Given the description of an element on the screen output the (x, y) to click on. 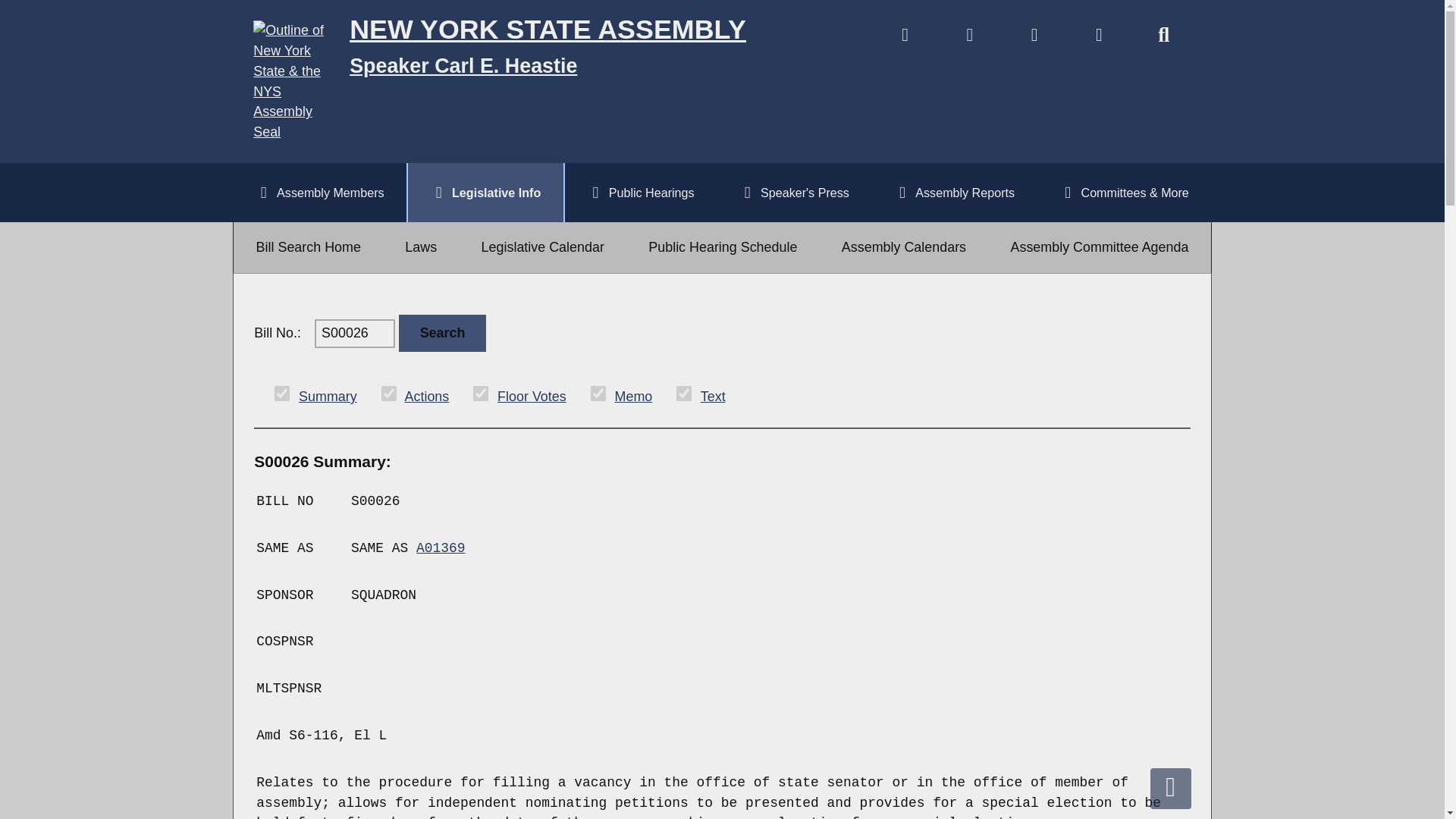
Y (480, 393)
Public Hearings (640, 191)
Memo (633, 396)
Speaker's Press (793, 191)
S00026 (354, 333)
Speaker's Press (793, 191)
Laws (420, 246)
Y (684, 393)
Watch Live (904, 37)
NYS Assembly Majority Instagram (1098, 37)
